Given the description of an element on the screen output the (x, y) to click on. 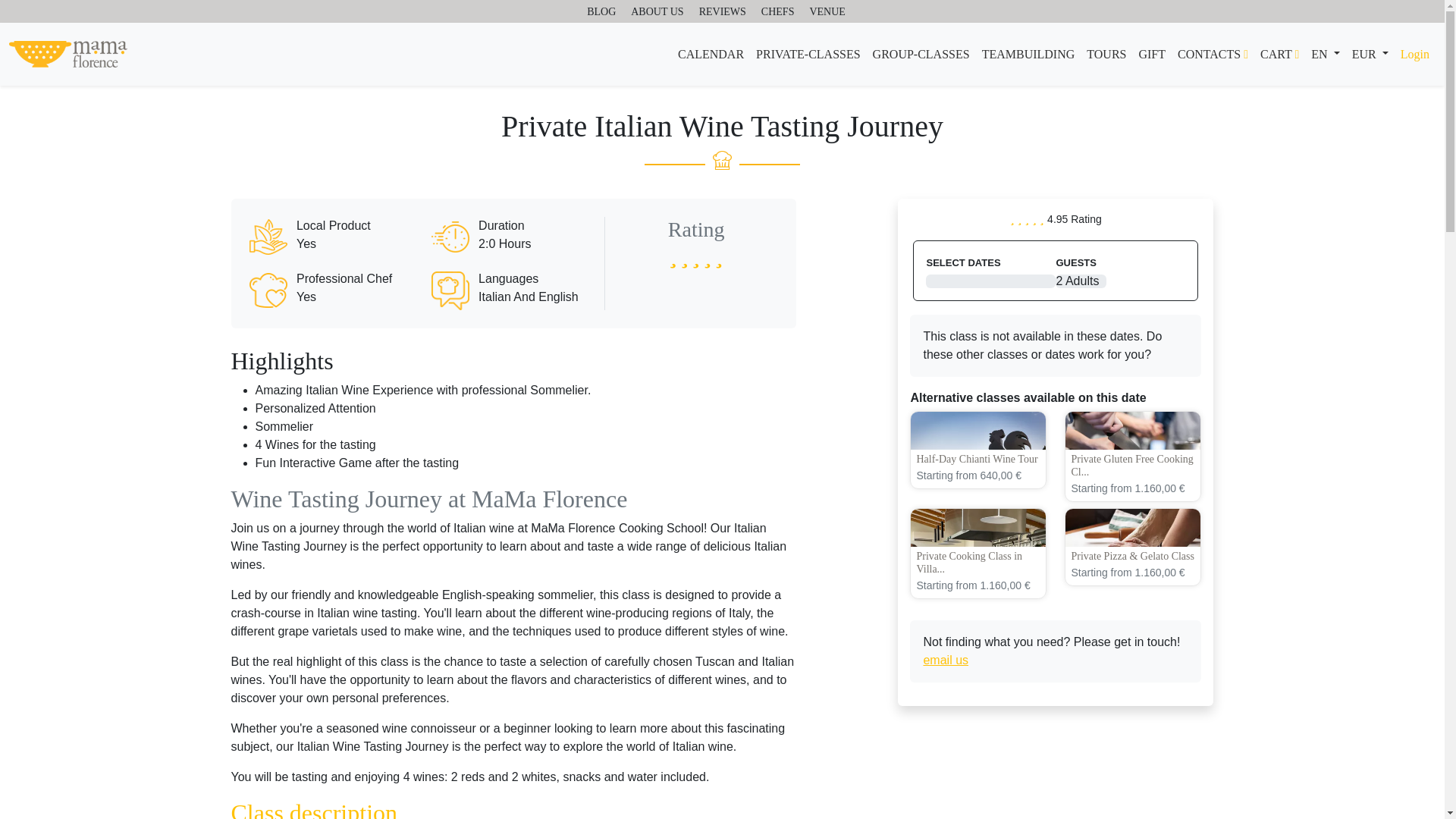
REVIEWS (721, 11)
email us (945, 659)
EUR (1369, 54)
VENUE (826, 11)
TEAMBUILDING (1028, 54)
CART (1278, 54)
GIFT (1152, 54)
ABOUT US (656, 11)
TOURS (1106, 54)
CHEFS (777, 11)
